Given the description of an element on the screen output the (x, y) to click on. 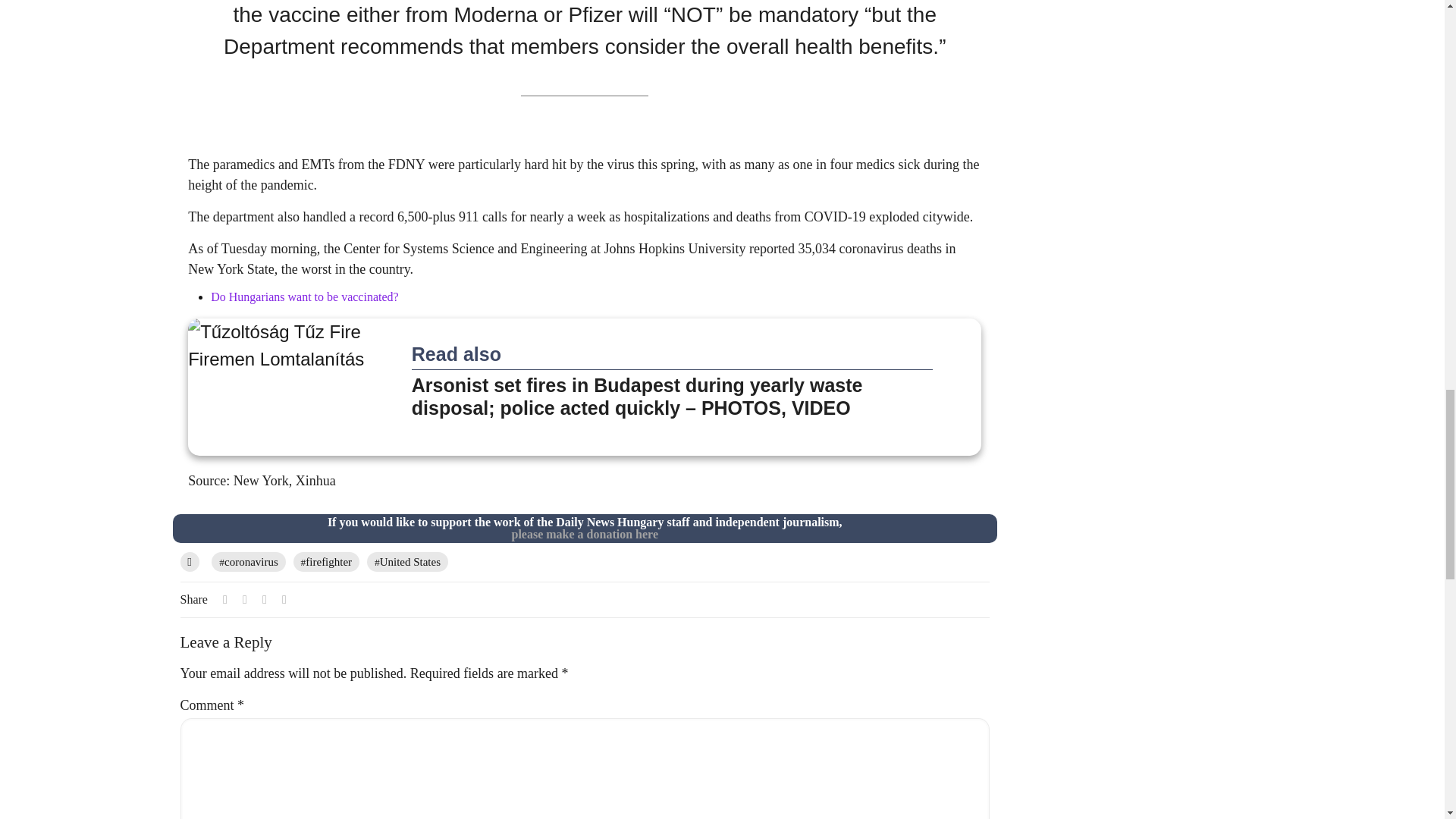
please make a donation here (584, 533)
firefighter (326, 561)
Do Hungarians want to be vaccinated? (304, 296)
coronavirus (248, 561)
United States (407, 561)
